Given the description of an element on the screen output the (x, y) to click on. 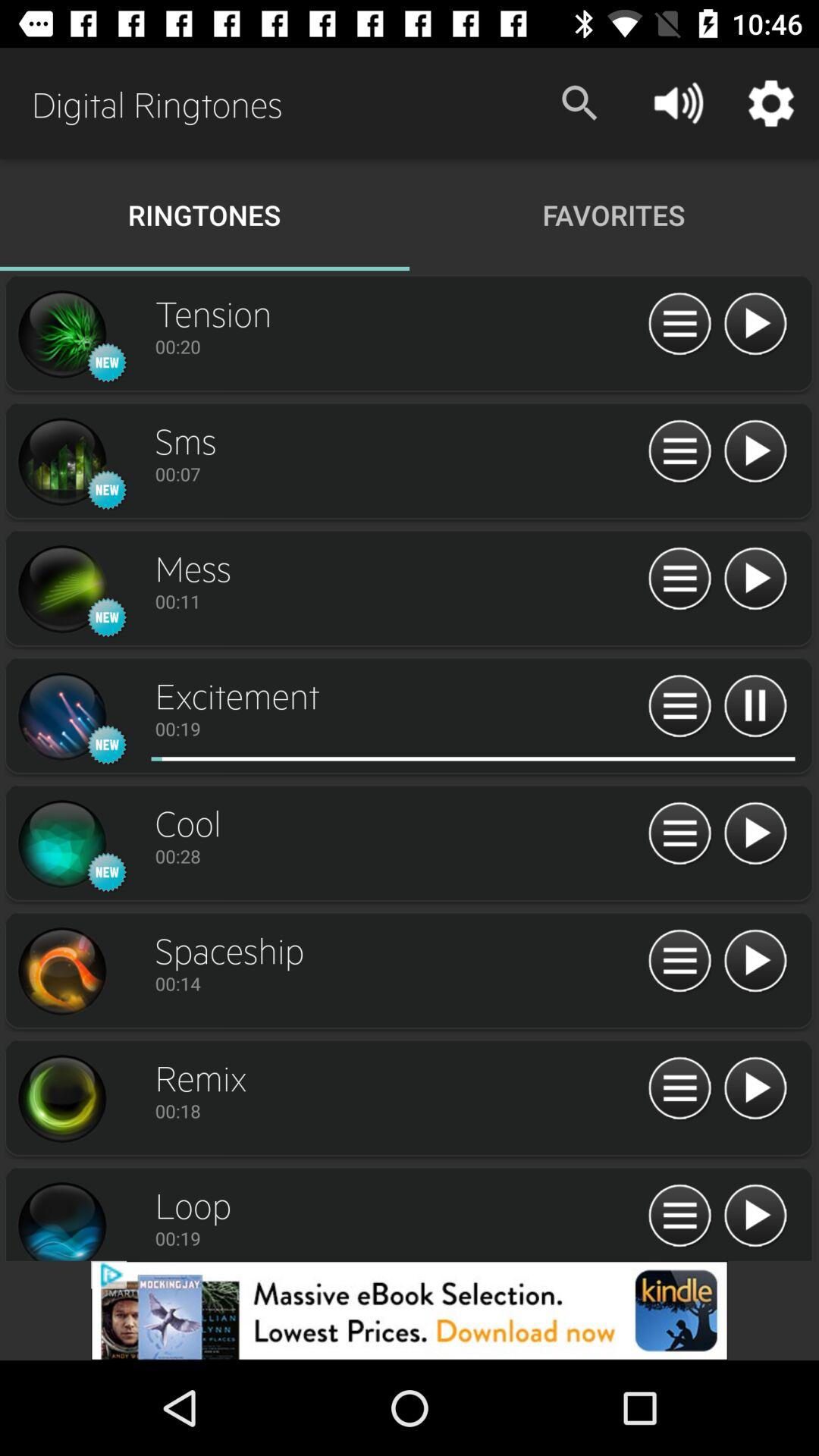
music search page (61, 716)
